Given the description of an element on the screen output the (x, y) to click on. 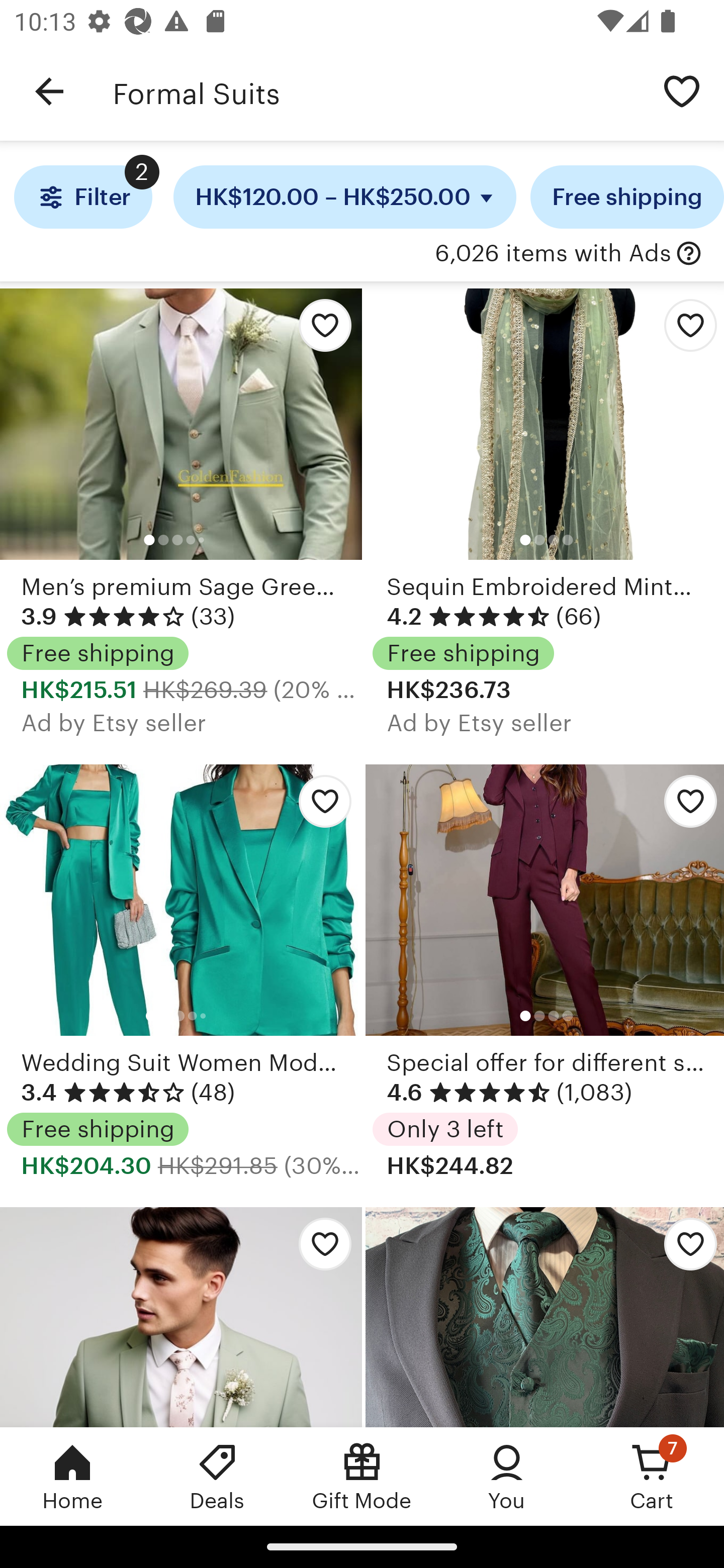
Navigate up (49, 91)
Save search (681, 90)
Formal Suits (375, 91)
Filter (82, 197)
HK$120.00 – HK$250.00 (344, 197)
Free shipping (627, 197)
6,026 items with Ads (553, 253)
with Ads (688, 253)
Deals (216, 1475)
Gift Mode (361, 1475)
You (506, 1475)
Cart, 7 new notifications Cart (651, 1475)
